Given the description of an element on the screen output the (x, y) to click on. 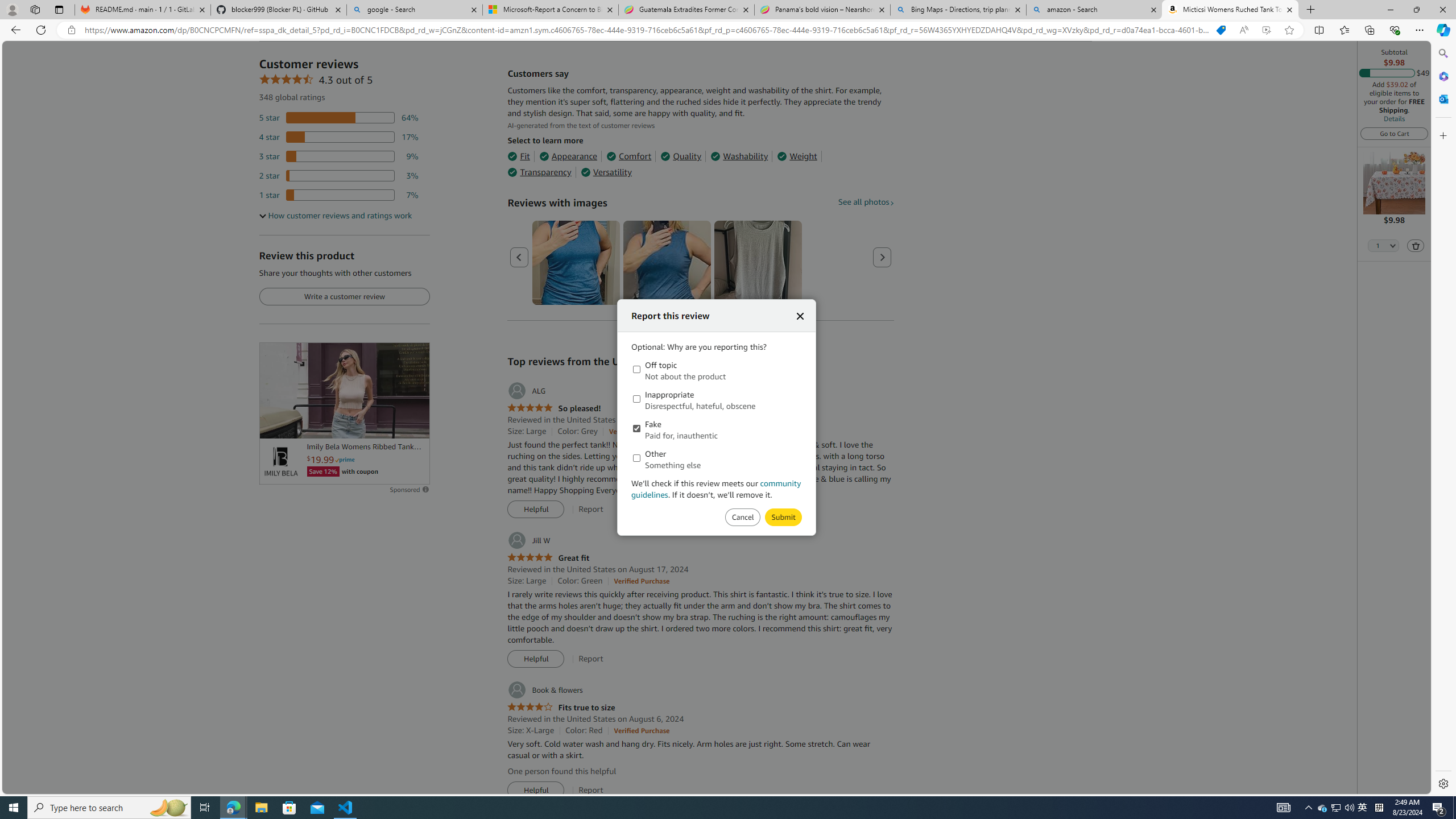
7 percent of reviews have 1 stars (339, 195)
4.0 out of 5 stars Fits true to size (560, 707)
See all photos (865, 201)
Write a customer review (344, 296)
Jill W (528, 540)
9 percent of reviews have 3 stars (339, 156)
community guidelines (715, 488)
Fit (517, 156)
Transparency (539, 172)
